Given the description of an element on the screen output the (x, y) to click on. 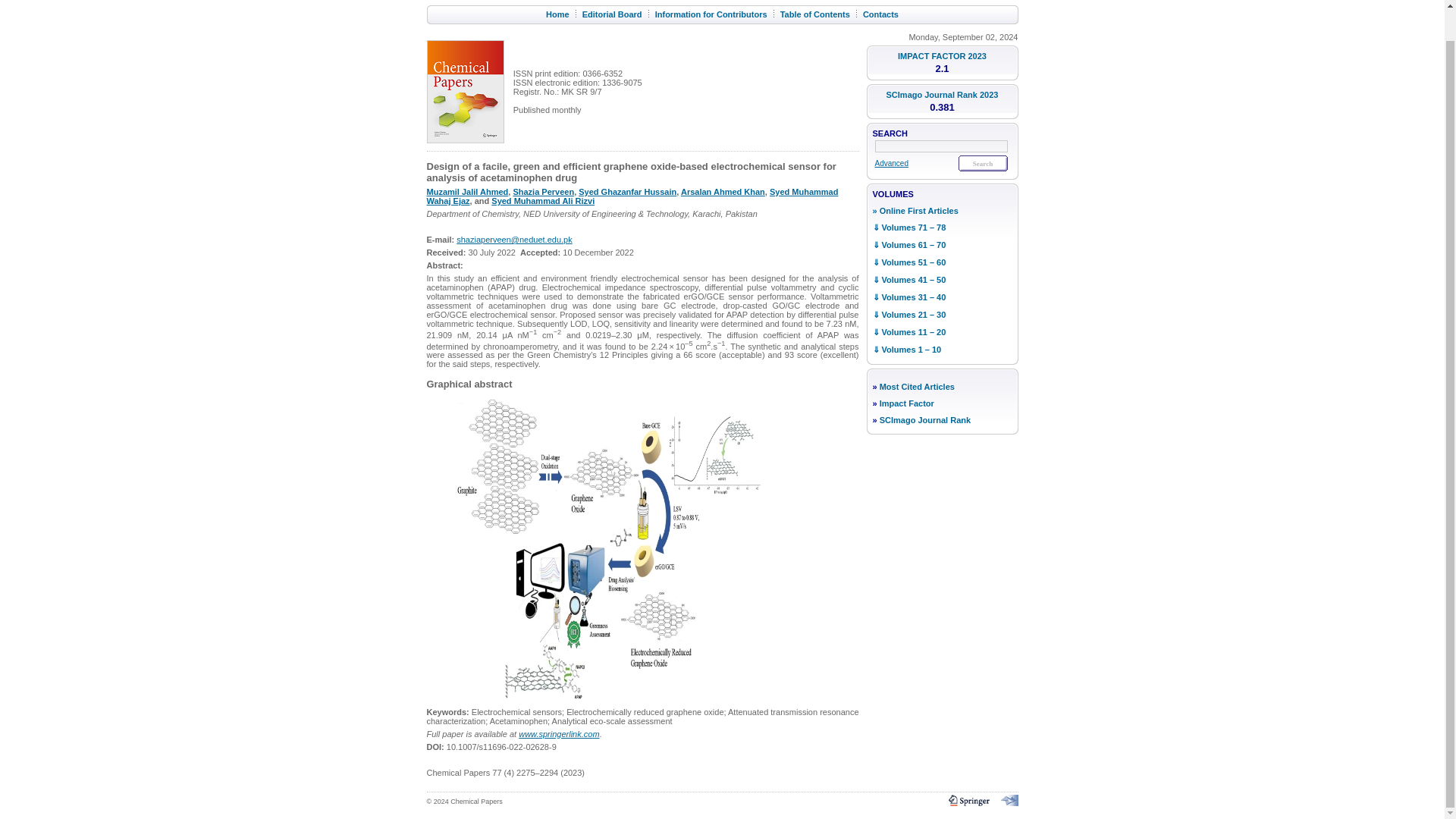
SLOVAK ACADEMY OF SCIENCES (968, 0)
Editorial Board (612, 13)
Muzamil Jalil Ahmed (467, 191)
Syed Muhammad Wahaj Ejaz (632, 196)
Information for Contributors (711, 13)
Table of Contents (815, 13)
www.springerlink.com (558, 733)
Home (557, 13)
SPRINGER (799, 0)
Contacts (880, 13)
